Given the description of an element on the screen output the (x, y) to click on. 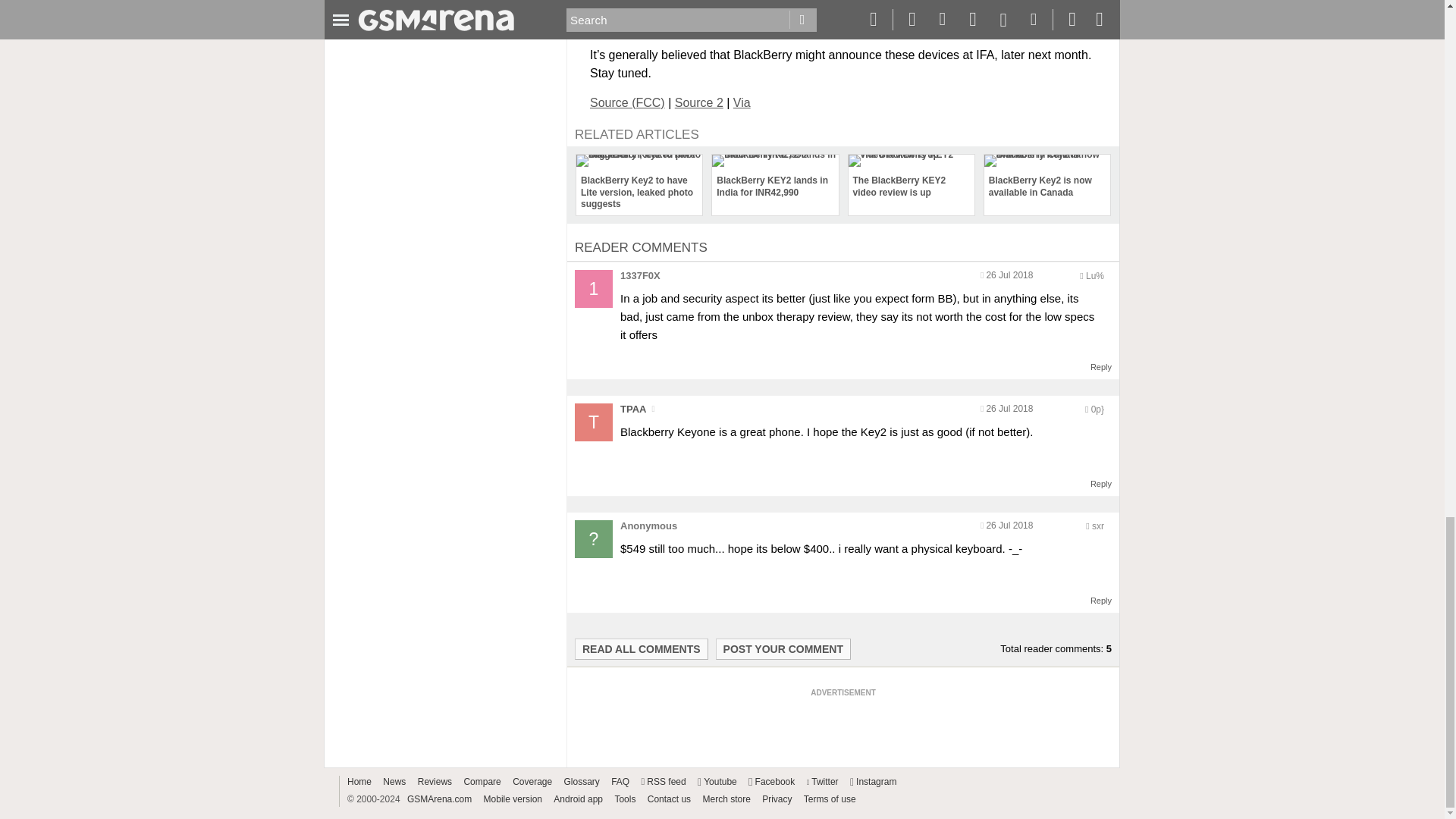
Encoded anonymized location (1097, 525)
Encoded anonymized location (1096, 409)
Encoded anonymized location (1094, 276)
Reply to this post (1101, 600)
Reply to this post (1101, 366)
Reply to this post (1101, 483)
